Given the description of an element on the screen output the (x, y) to click on. 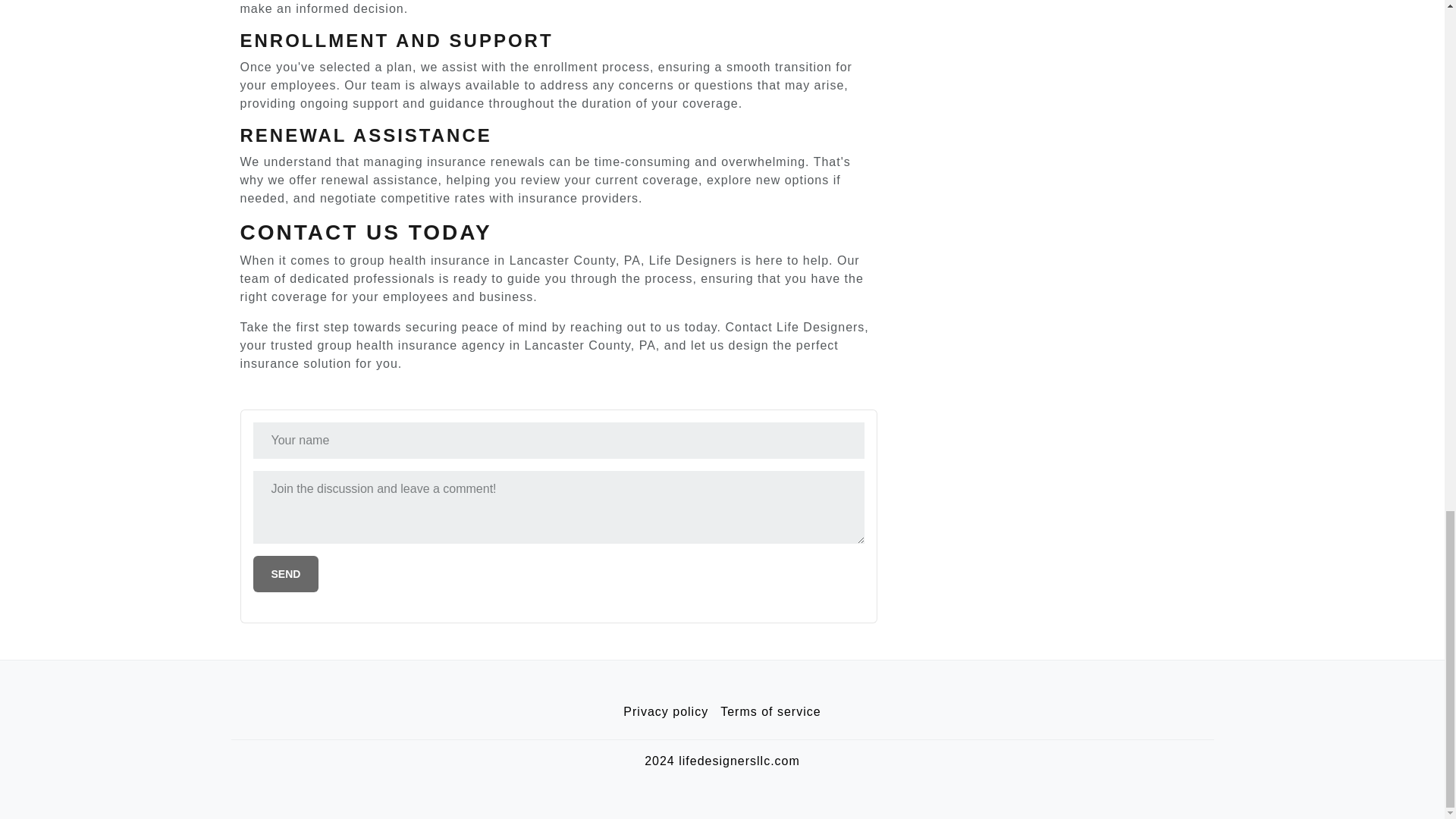
Send (285, 574)
Send (285, 574)
Privacy policy (665, 711)
Terms of service (770, 711)
